Given the description of an element on the screen output the (x, y) to click on. 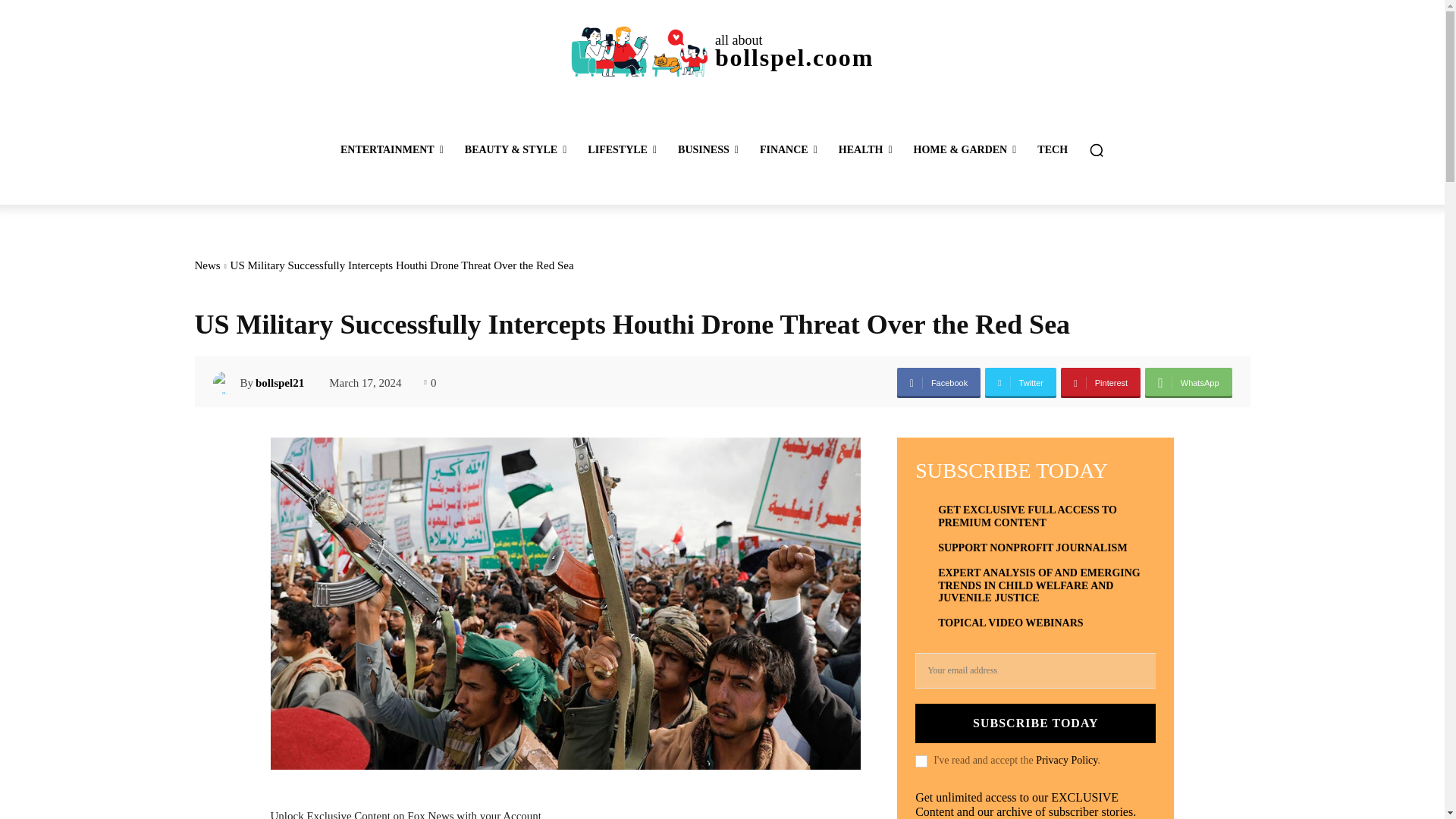
Facebook (937, 382)
Twitter (1021, 382)
View all posts in News (206, 265)
bollspel21 (226, 382)
Pinterest (1100, 382)
